Given the description of an element on the screen output the (x, y) to click on. 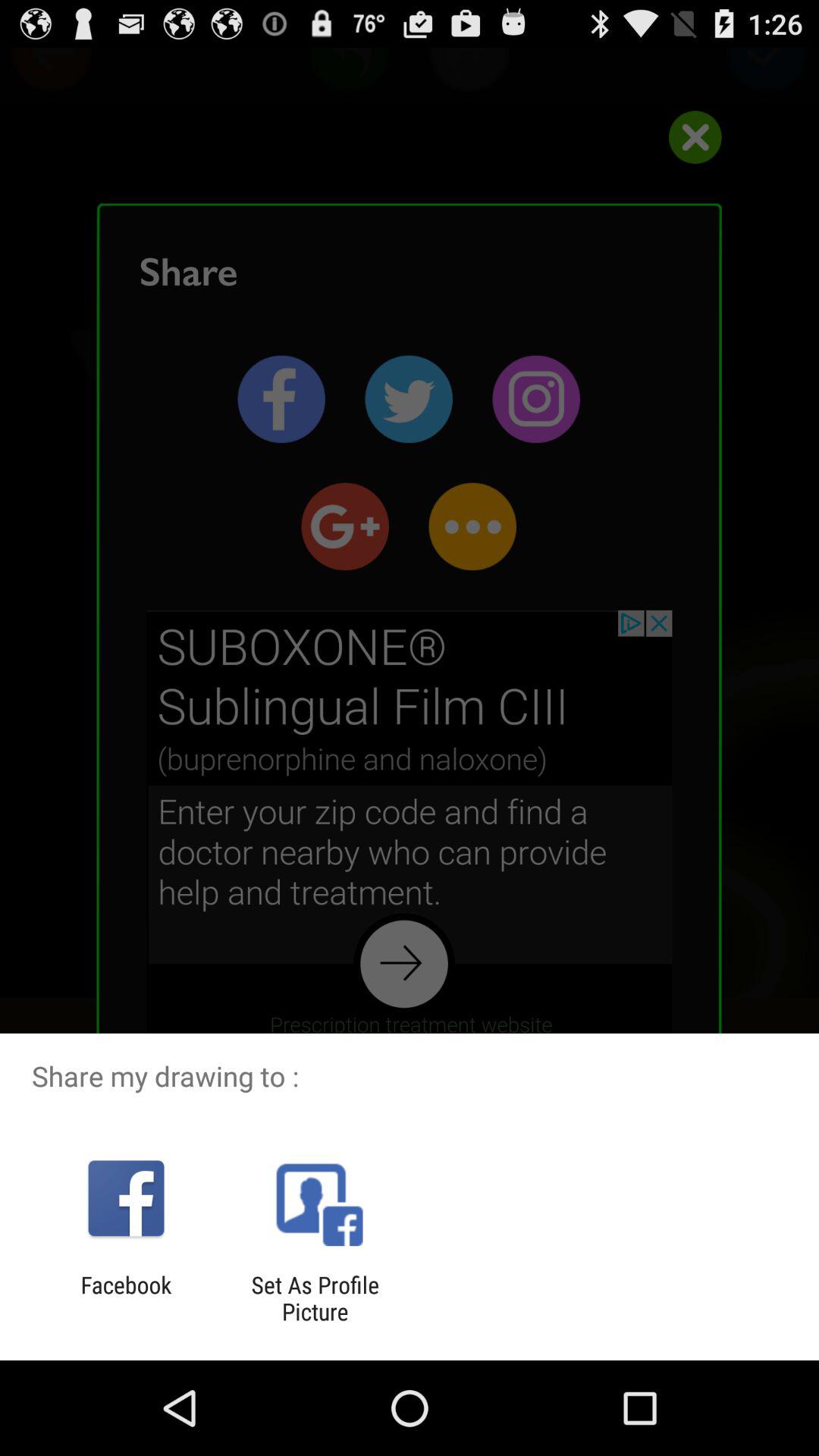
scroll until set as profile item (314, 1298)
